Given the description of an element on the screen output the (x, y) to click on. 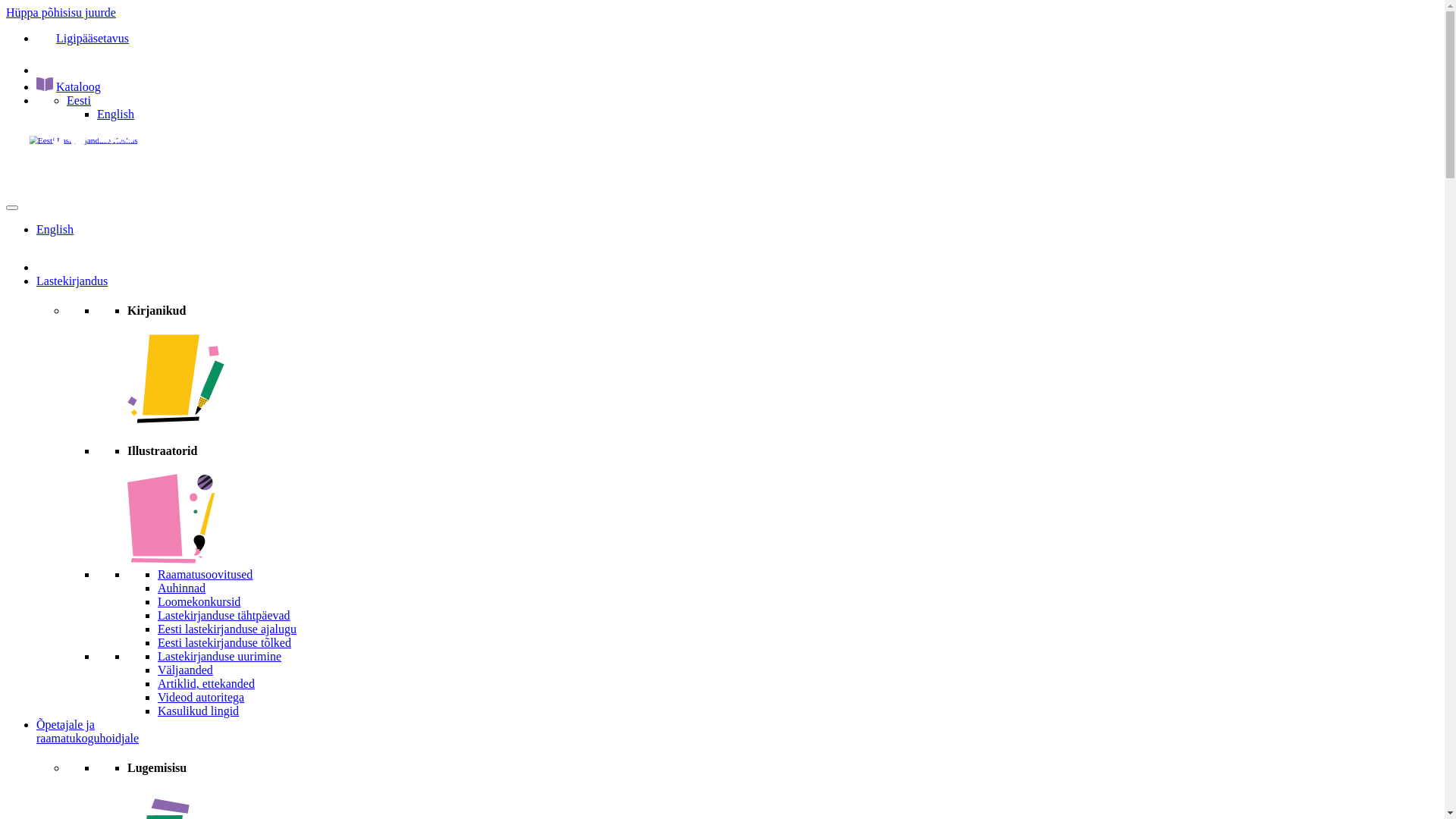
Eesti Element type: text (78, 100)
Videod autoritega Element type: text (200, 696)
Kataloog Element type: text (78, 86)
Kasulikud lingid Element type: text (197, 710)
English Element type: text (54, 228)
Eesti lastekirjanduse ajalugu Element type: text (226, 628)
Lastekirjandus Element type: text (71, 280)
Raamatusoovitused Element type: text (204, 573)
Artiklid, ettekanded Element type: text (205, 683)
English Element type: text (115, 113)
Loomekonkursid Element type: text (198, 601)
Auhinnad Element type: text (181, 587)
Lastekirjanduse uurimine Element type: text (219, 655)
